Given the description of an element on the screen output the (x, y) to click on. 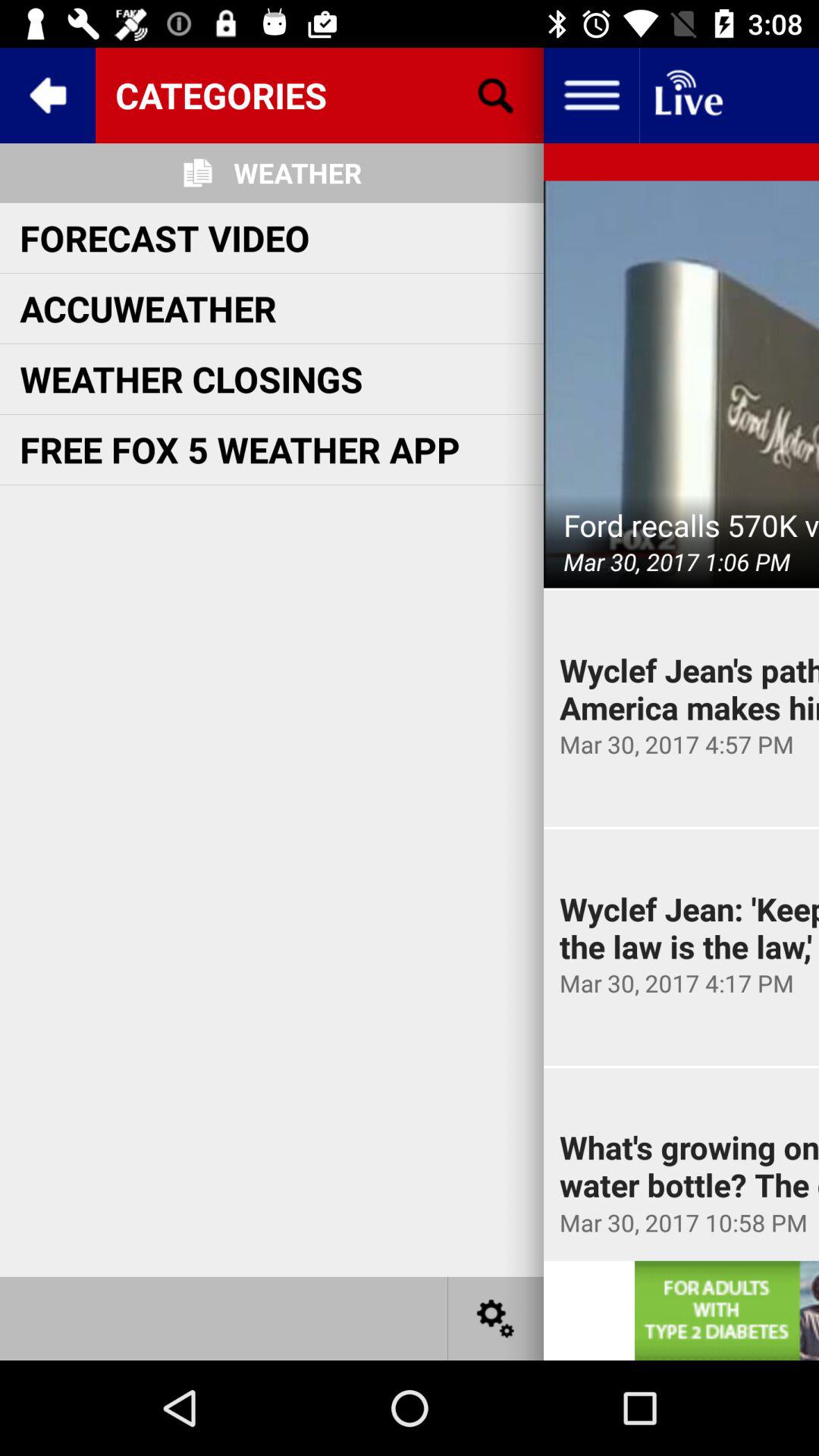
start search (495, 95)
